Given the description of an element on the screen output the (x, y) to click on. 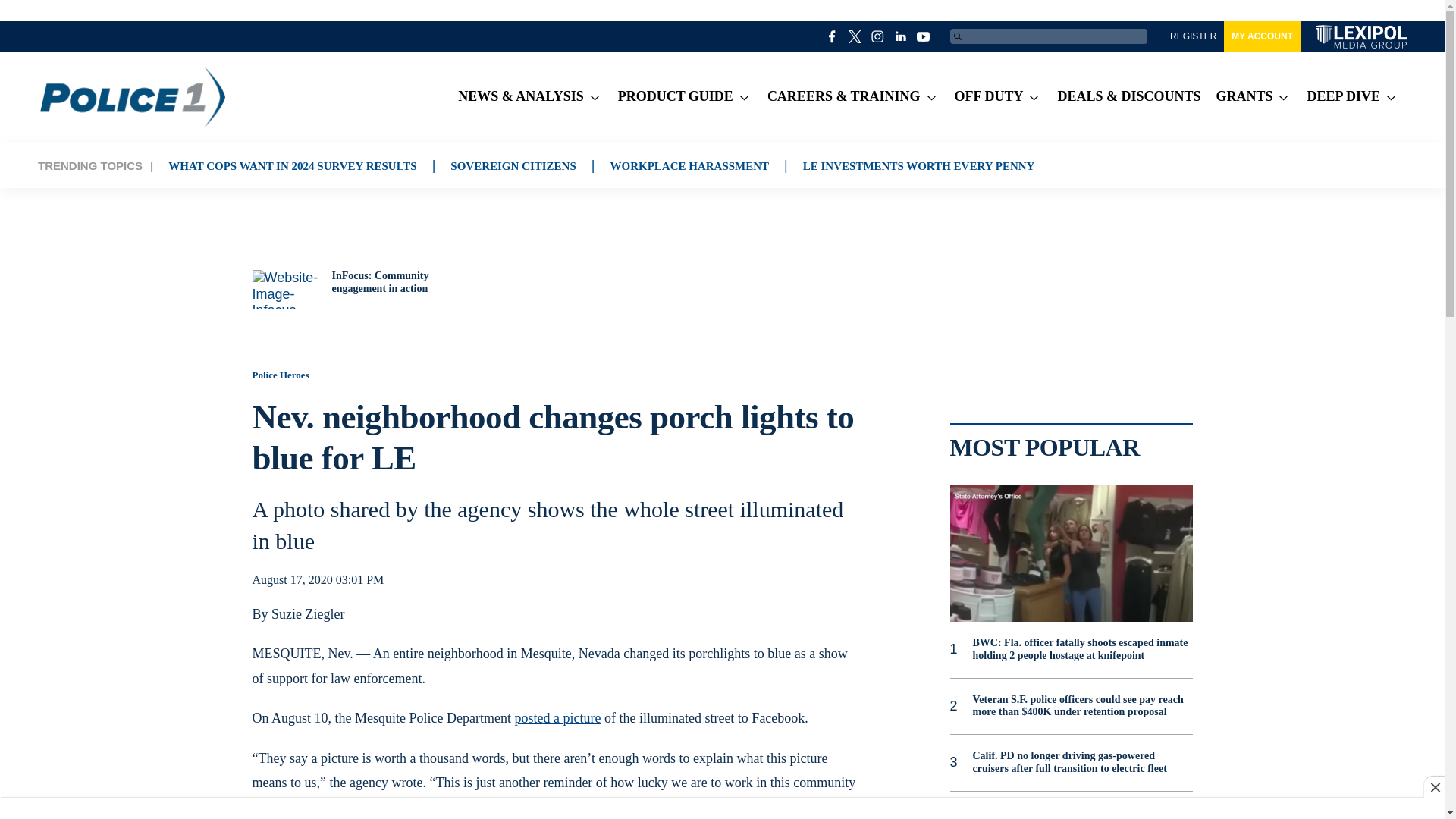
MY ACCOUNT (1262, 36)
linkedin (900, 36)
REGISTER (1192, 36)
facebook (832, 36)
youtube (923, 36)
twitter (855, 36)
instagram (877, 36)
